Given the description of an element on the screen output the (x, y) to click on. 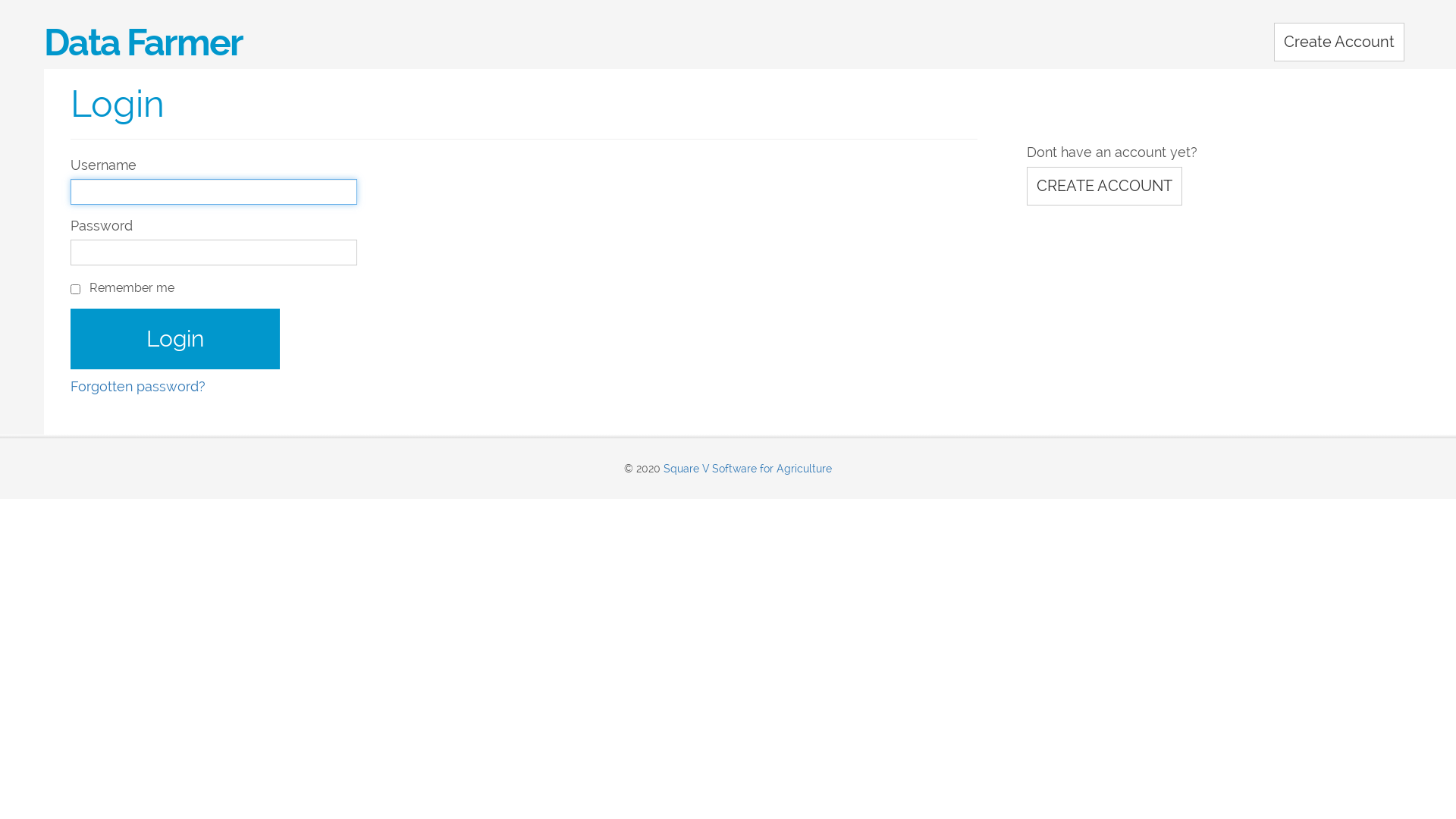
Square V Software for Agriculture Element type: text (747, 468)
CREATE ACCOUNT Element type: text (1104, 185)
Data Farmer Element type: text (481, 42)
Create Account Element type: text (1339, 41)
Login Element type: text (175, 338)
Forgotten password? Element type: text (137, 386)
